Given the description of an element on the screen output the (x, y) to click on. 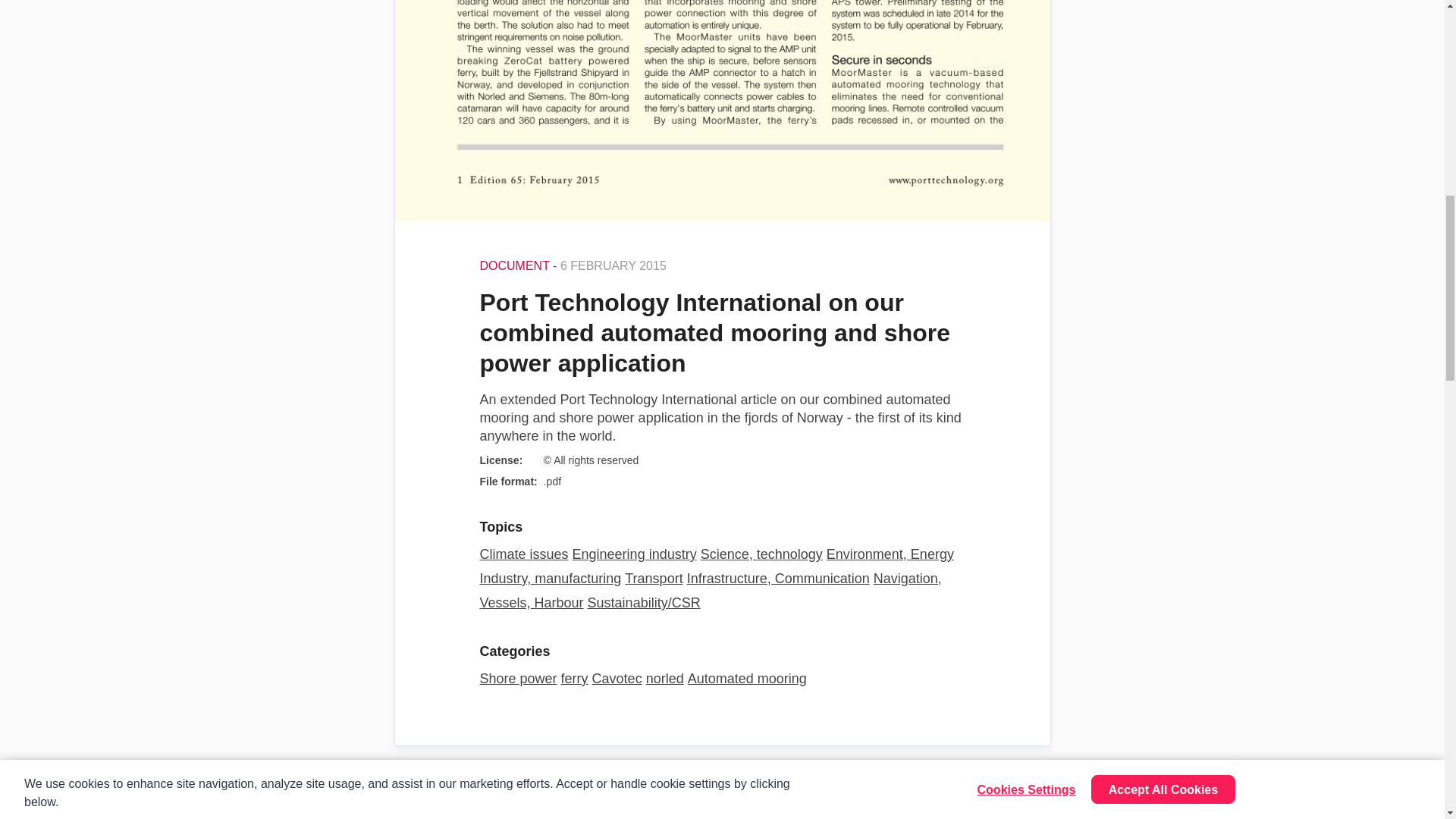
ferry (574, 678)
Climate issues (523, 554)
Cavotec (617, 678)
Engineering industry (634, 554)
norled (665, 678)
Industry, manufacturing (550, 578)
Shore power (517, 678)
Infrastructure, Communication (778, 578)
Automated mooring (746, 678)
Environment, Energy (890, 554)
Navigation, Vessels, Harbour (709, 590)
Science, technology (761, 554)
Transport (653, 578)
